Given the description of an element on the screen output the (x, y) to click on. 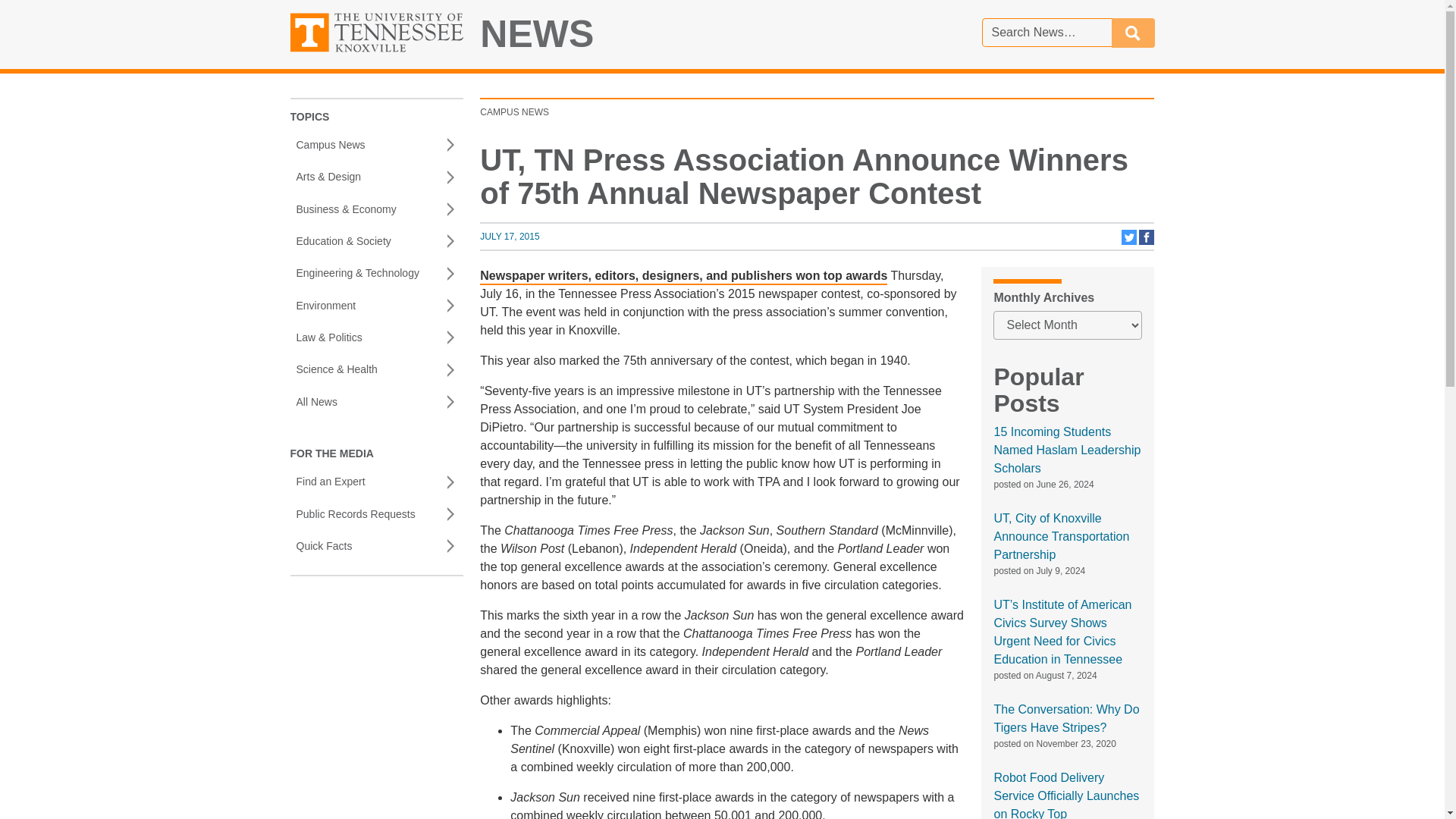
Environment (376, 305)
Share on Facebook. (1146, 241)
All News (376, 401)
Find an Expert (376, 481)
Public Records Requests (376, 513)
NEWS (537, 34)
Quick Facts (376, 545)
View all posts in Campus News (514, 112)
CAMPUS NEWS (514, 112)
15 Incoming Students Named Haslam Leadership Scholars (1066, 450)
